Given the description of an element on the screen output the (x, y) to click on. 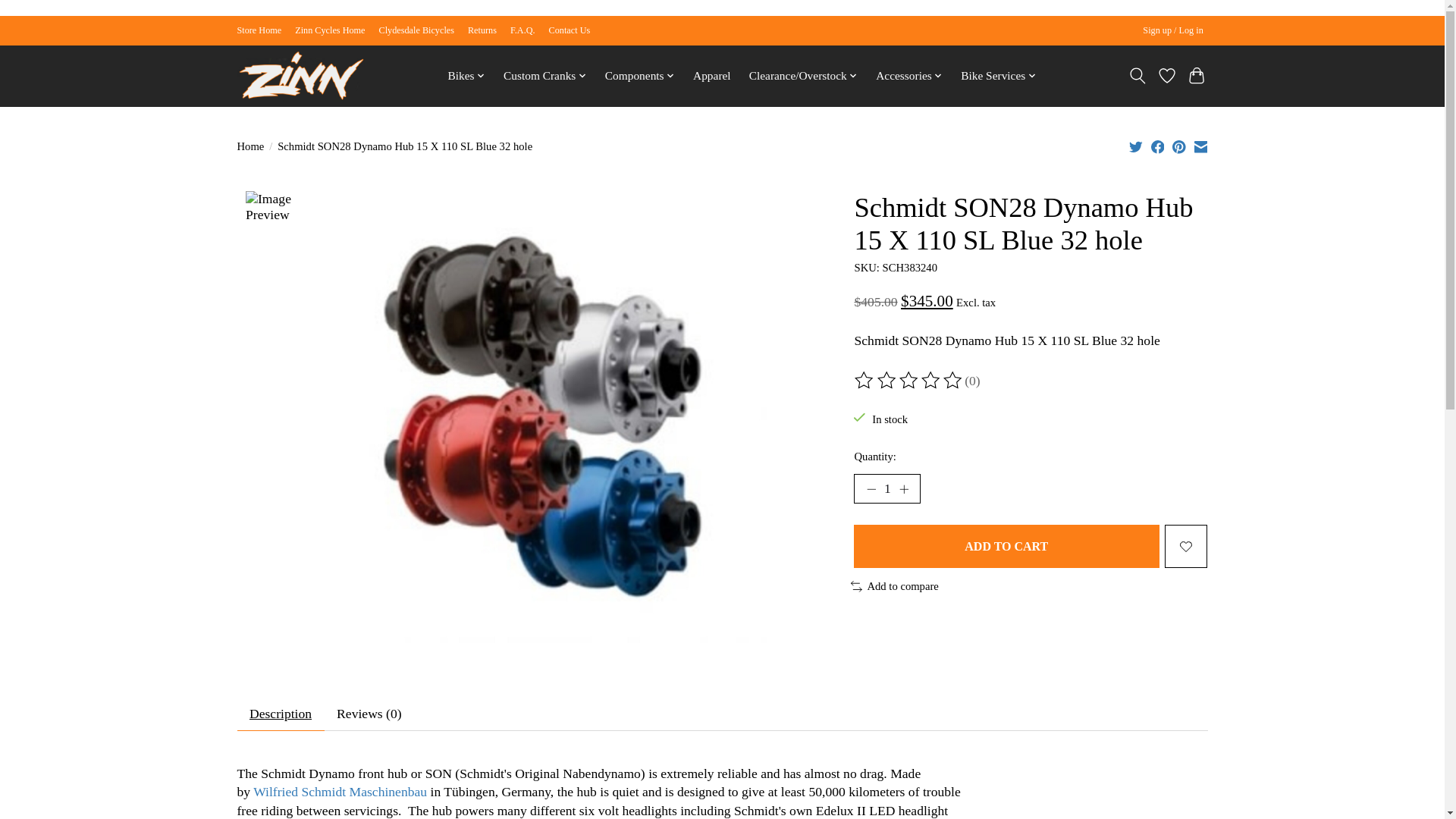
Clydesdale Bicycles (416, 30)
F.A.Q. (523, 30)
Share on Twitter (1135, 146)
My account (1173, 30)
Share by Email (1200, 146)
Contact Us (569, 30)
Store Home (258, 30)
1 (886, 489)
Share on Facebook (1157, 146)
Clydesdale Bicycles (416, 30)
Zinn Cycles Home (330, 30)
Contact Us (569, 30)
Custom Cranks (544, 76)
Returns (481, 30)
Share on Pinterest (1178, 146)
